Given the description of an element on the screen output the (x, y) to click on. 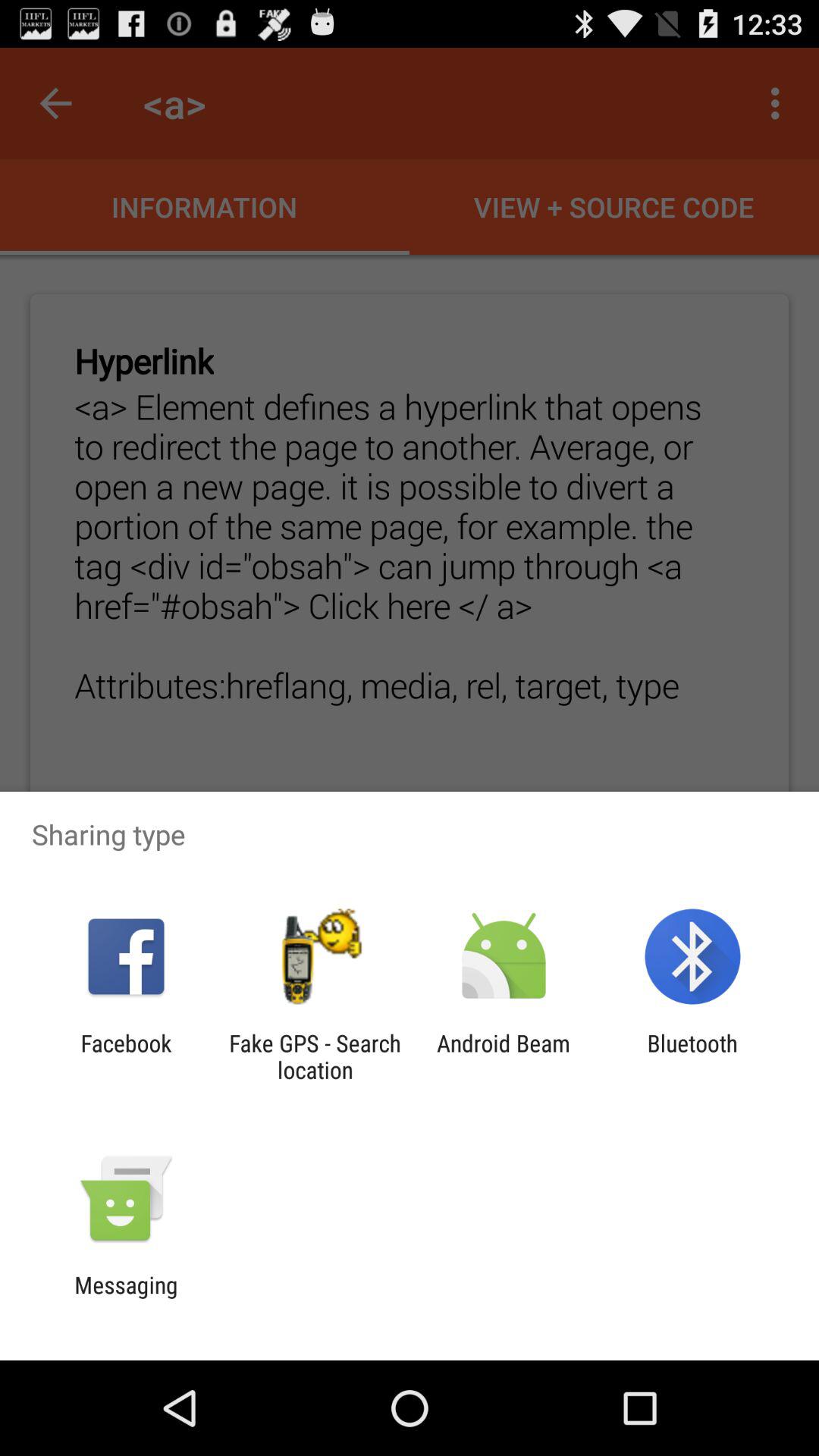
launch the item to the right of the facebook item (314, 1056)
